Given the description of an element on the screen output the (x, y) to click on. 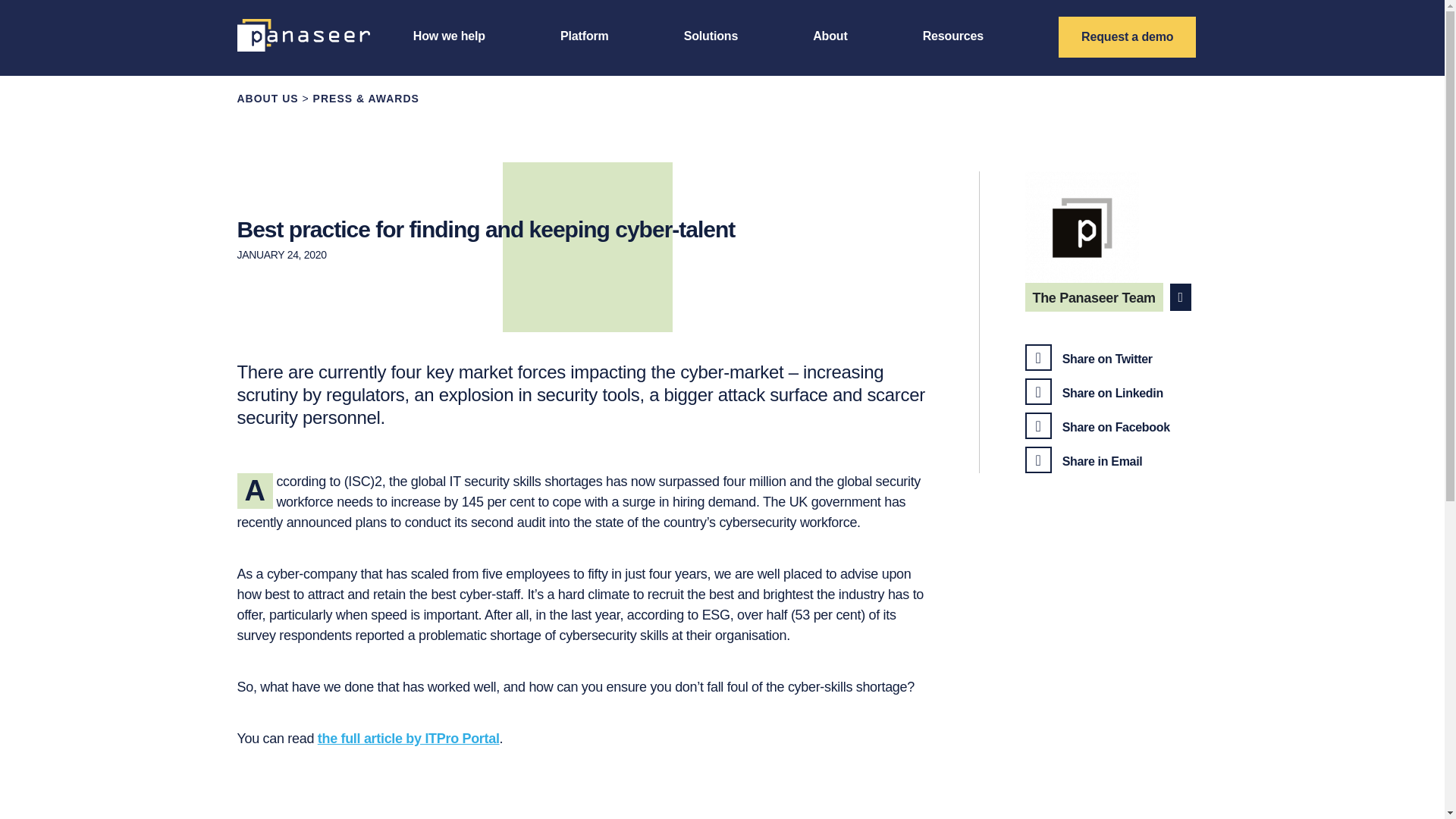
About (829, 36)
Request a demo (1126, 36)
Resources (953, 36)
Platform (584, 36)
How we help (448, 36)
Solutions (711, 36)
Share by Email (1083, 461)
